Given the description of an element on the screen output the (x, y) to click on. 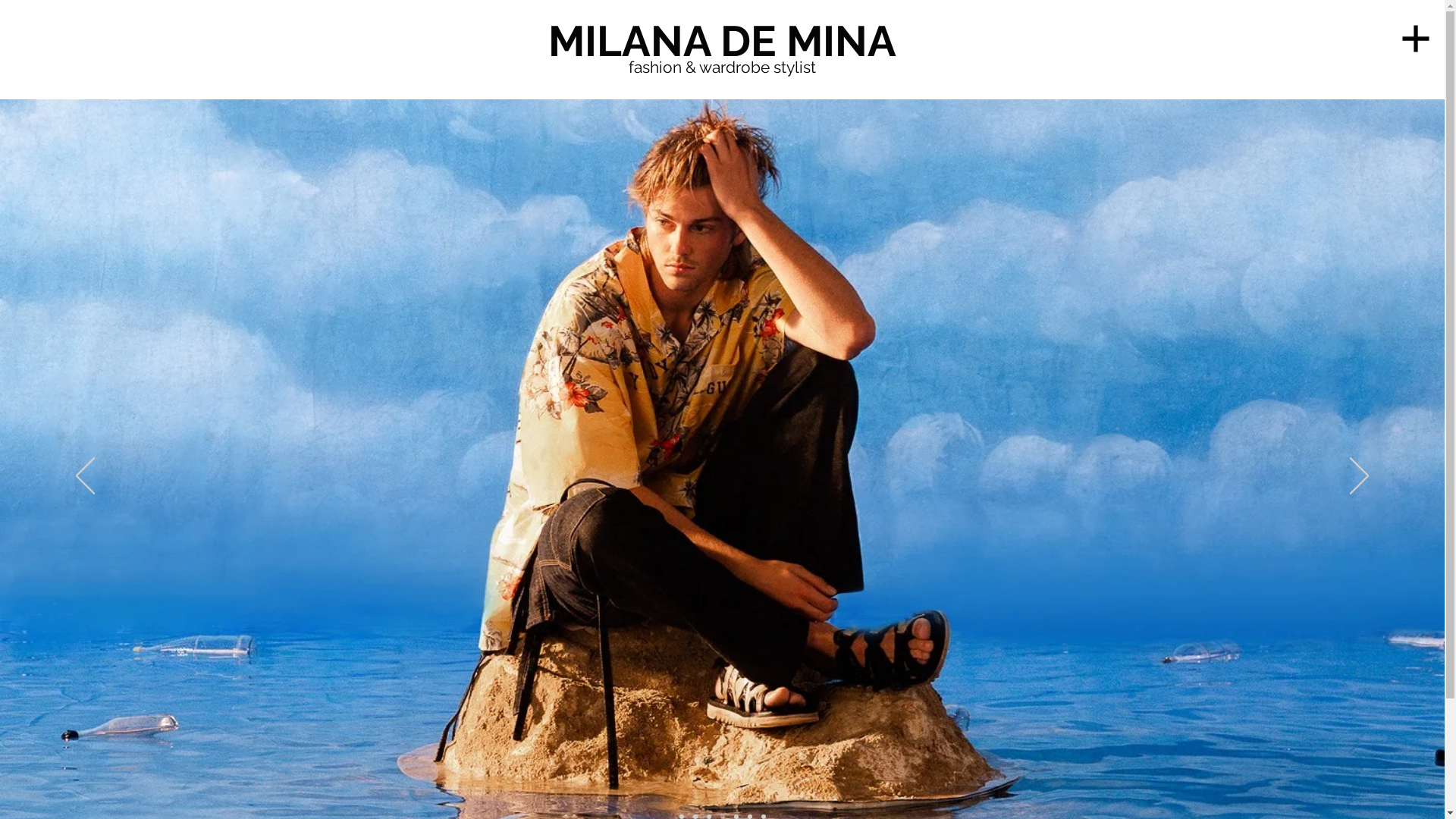
MILANA DE MINA Element type: text (721, 41)
